Given the description of an element on the screen output the (x, y) to click on. 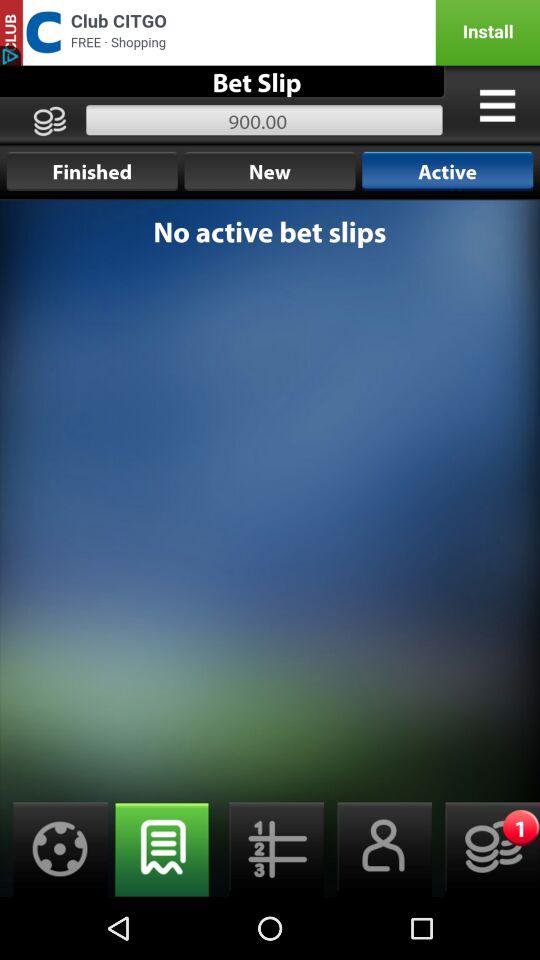
bed slip (378, 849)
